Given the description of an element on the screen output the (x, y) to click on. 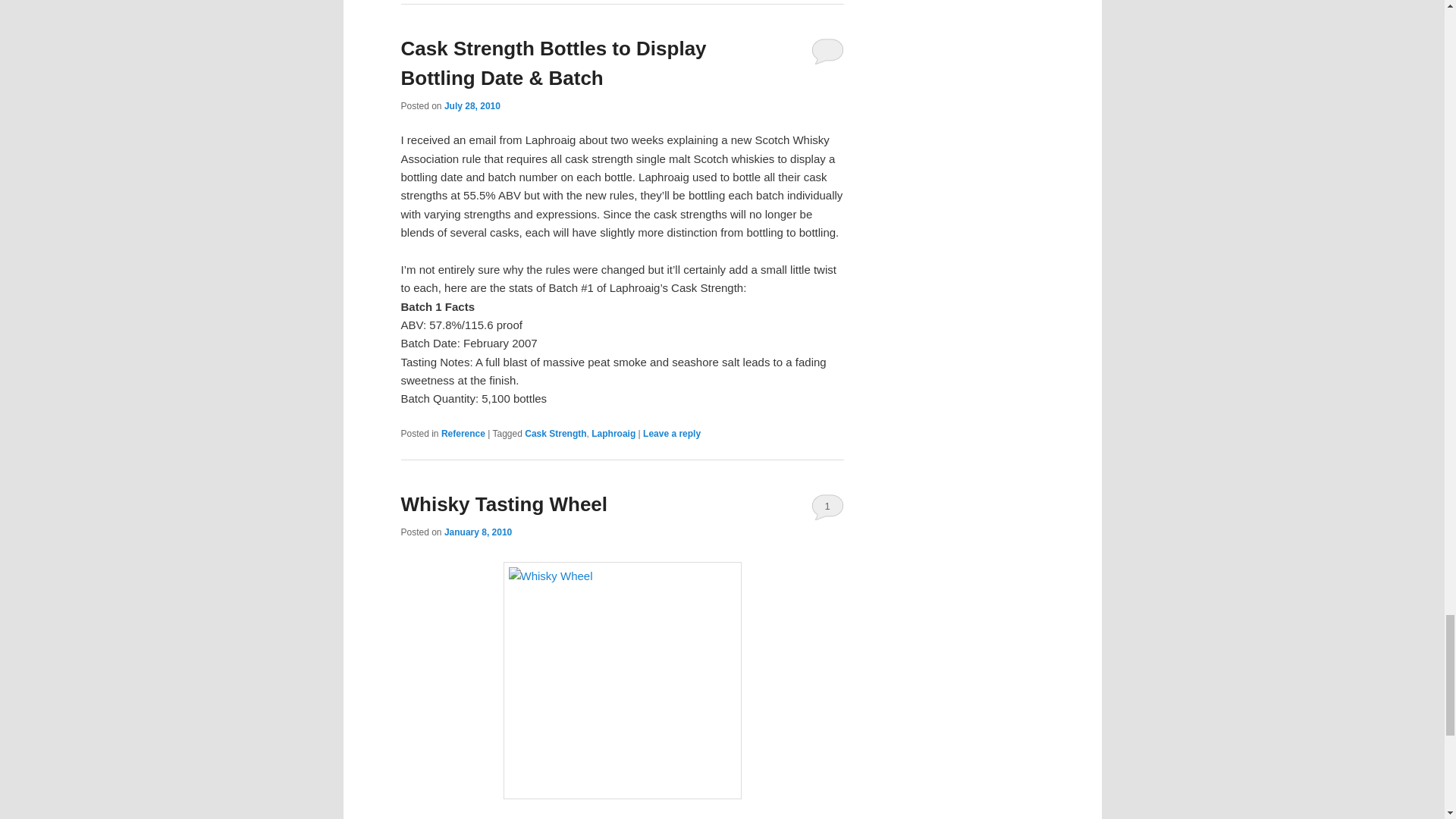
Whisky Wheel (622, 680)
5:21 pm (472, 105)
11:15 am (478, 532)
